Given the description of an element on the screen output the (x, y) to click on. 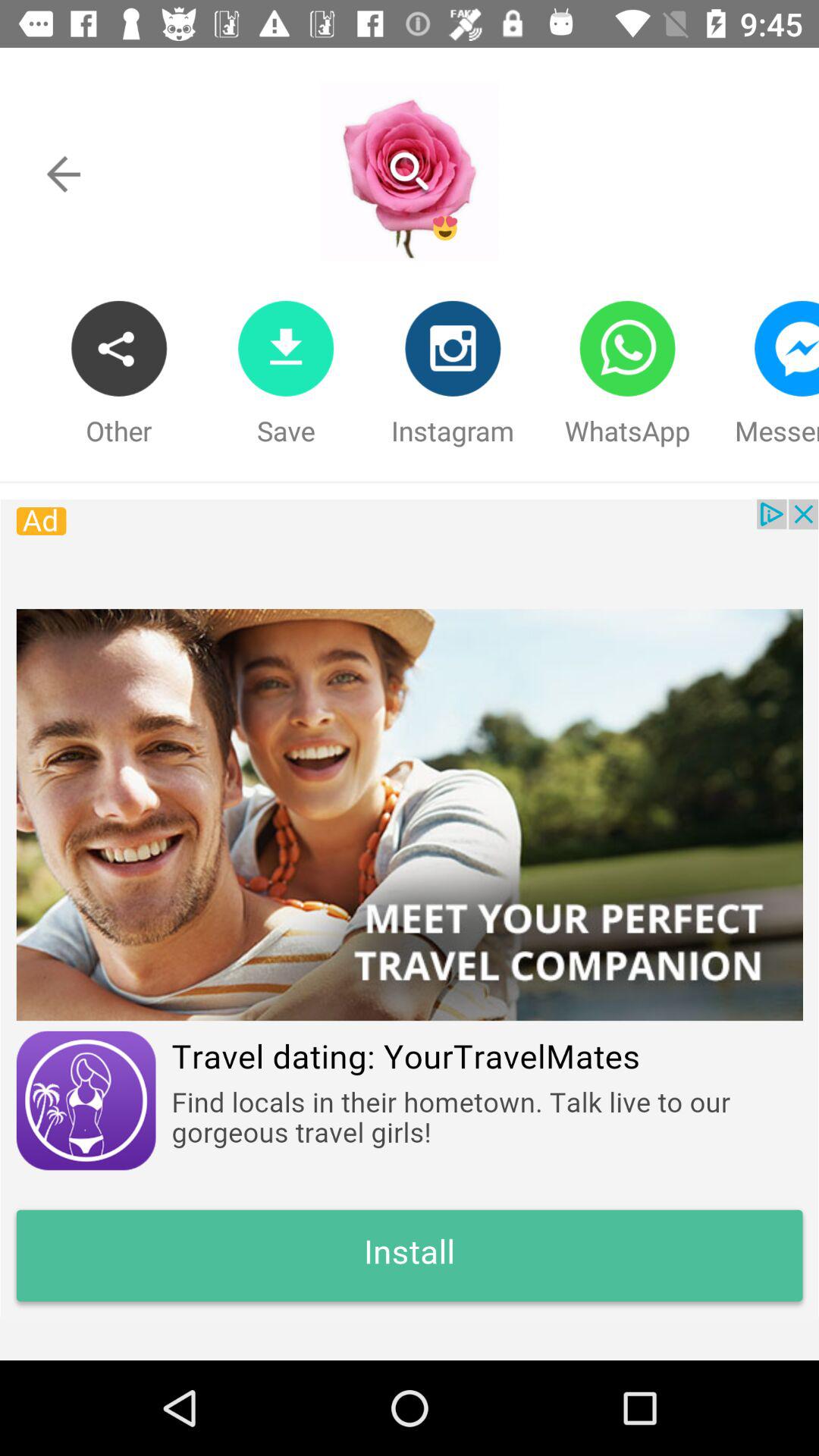
go back (63, 173)
